Given the description of an element on the screen output the (x, y) to click on. 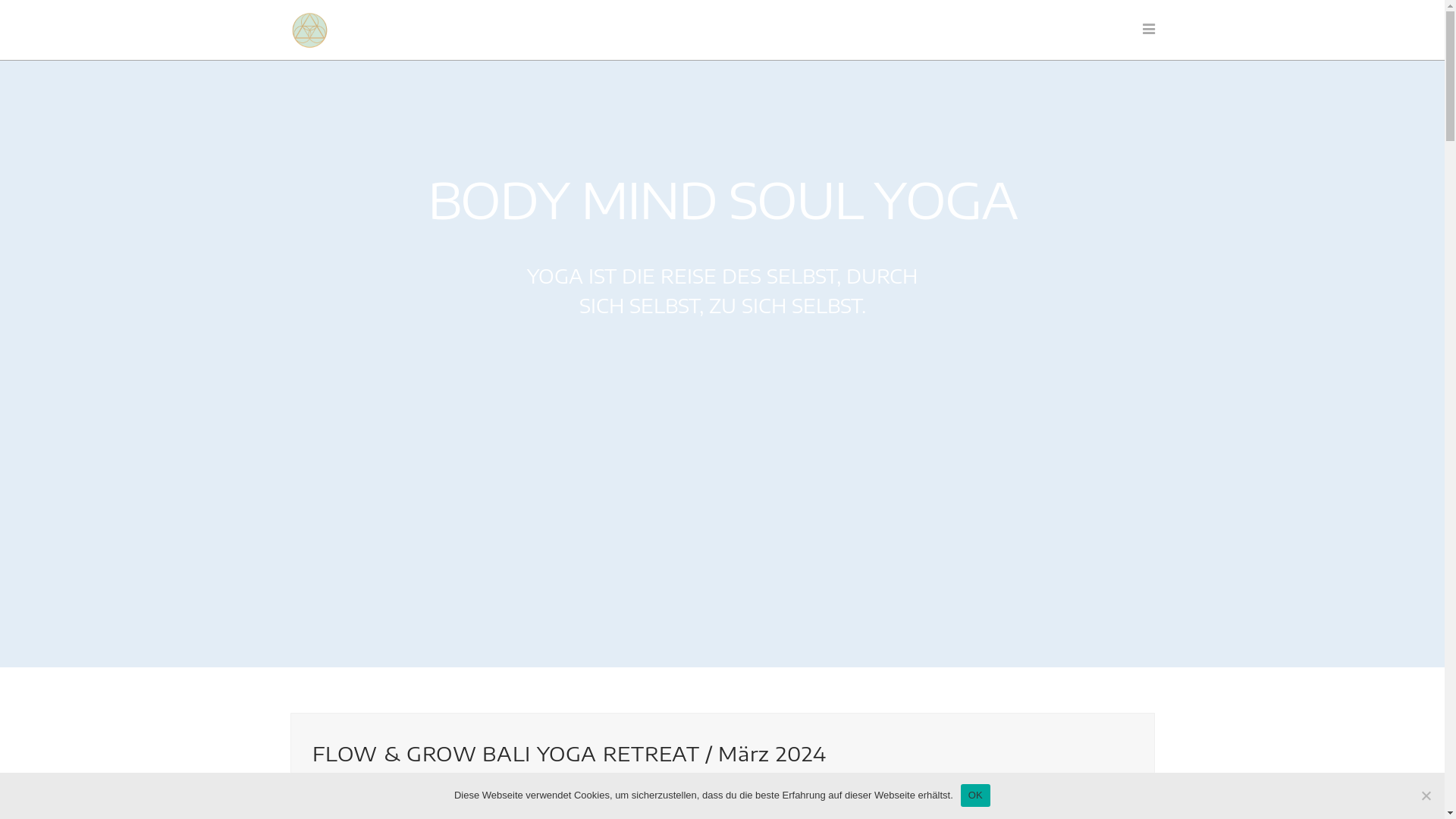
Nein Element type: hover (1425, 795)
OK Element type: text (975, 795)
